Given the description of an element on the screen output the (x, y) to click on. 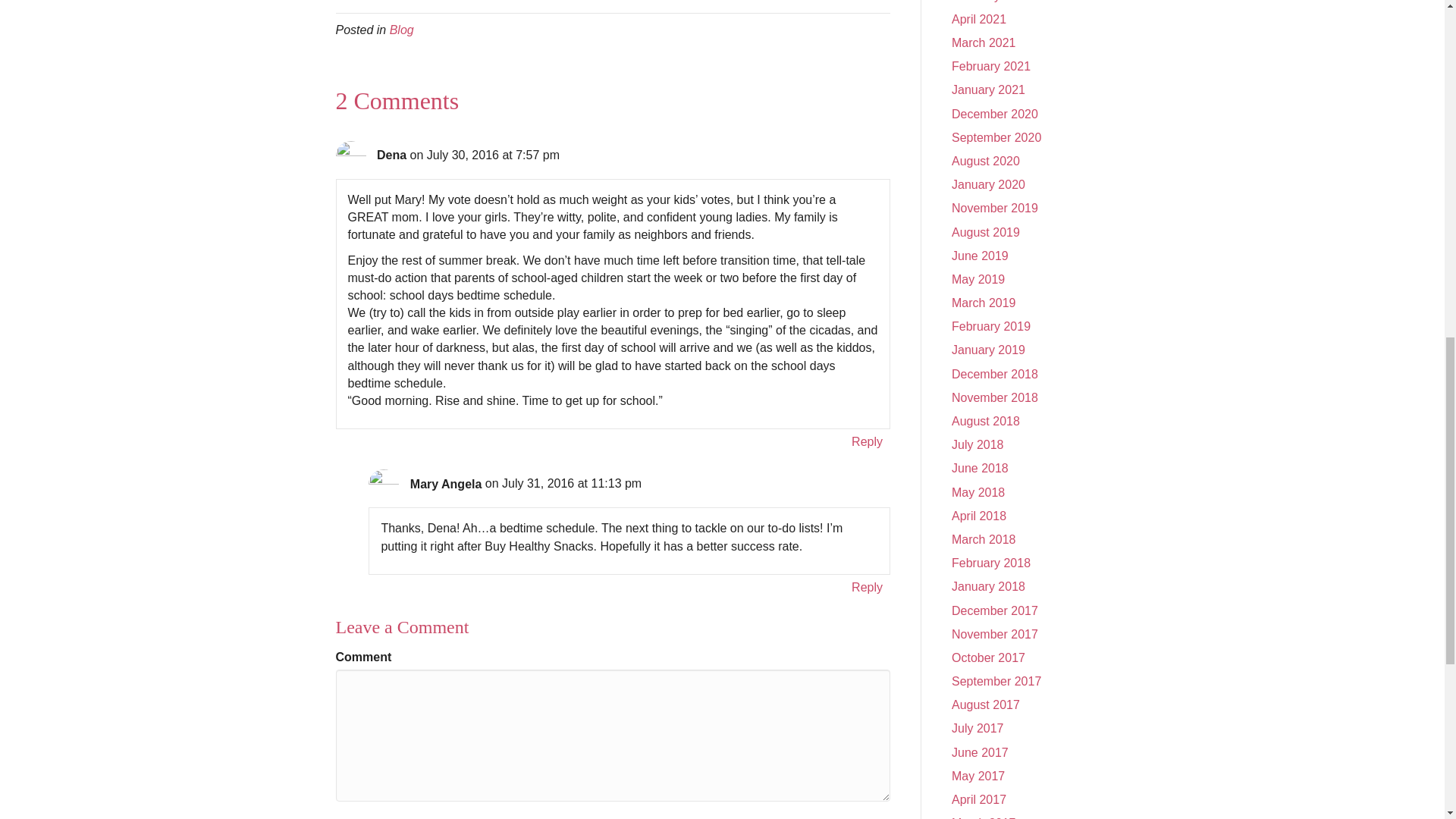
Reply (866, 587)
Reply (866, 441)
Blog (401, 29)
